Given the description of an element on the screen output the (x, y) to click on. 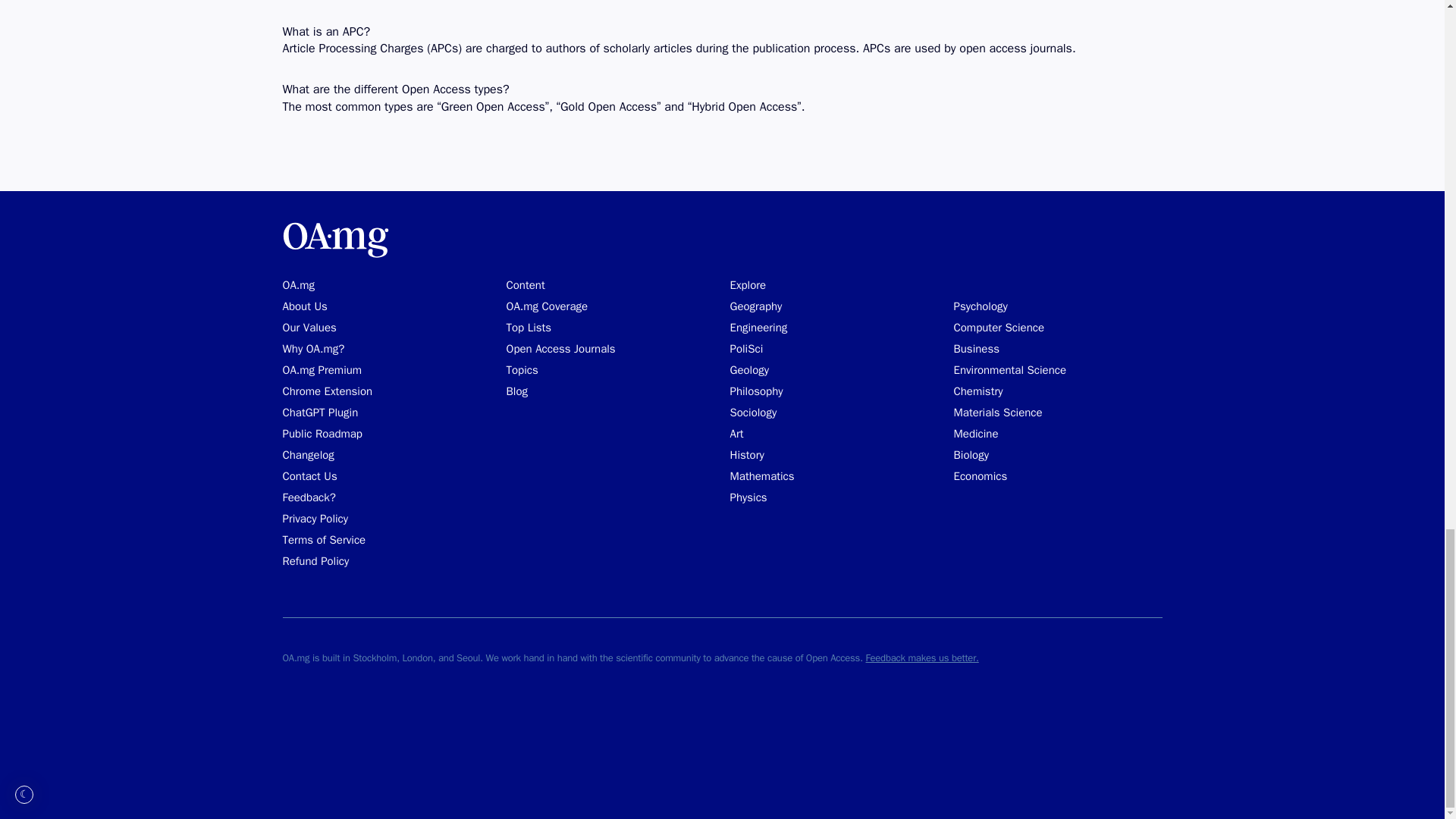
ChatGPT Plugin (320, 412)
Why OA.mg? (312, 348)
Chrome Extension (327, 391)
OA.mg Premium (321, 369)
Our Values (309, 327)
About Us (304, 305)
